Given the description of an element on the screen output the (x, y) to click on. 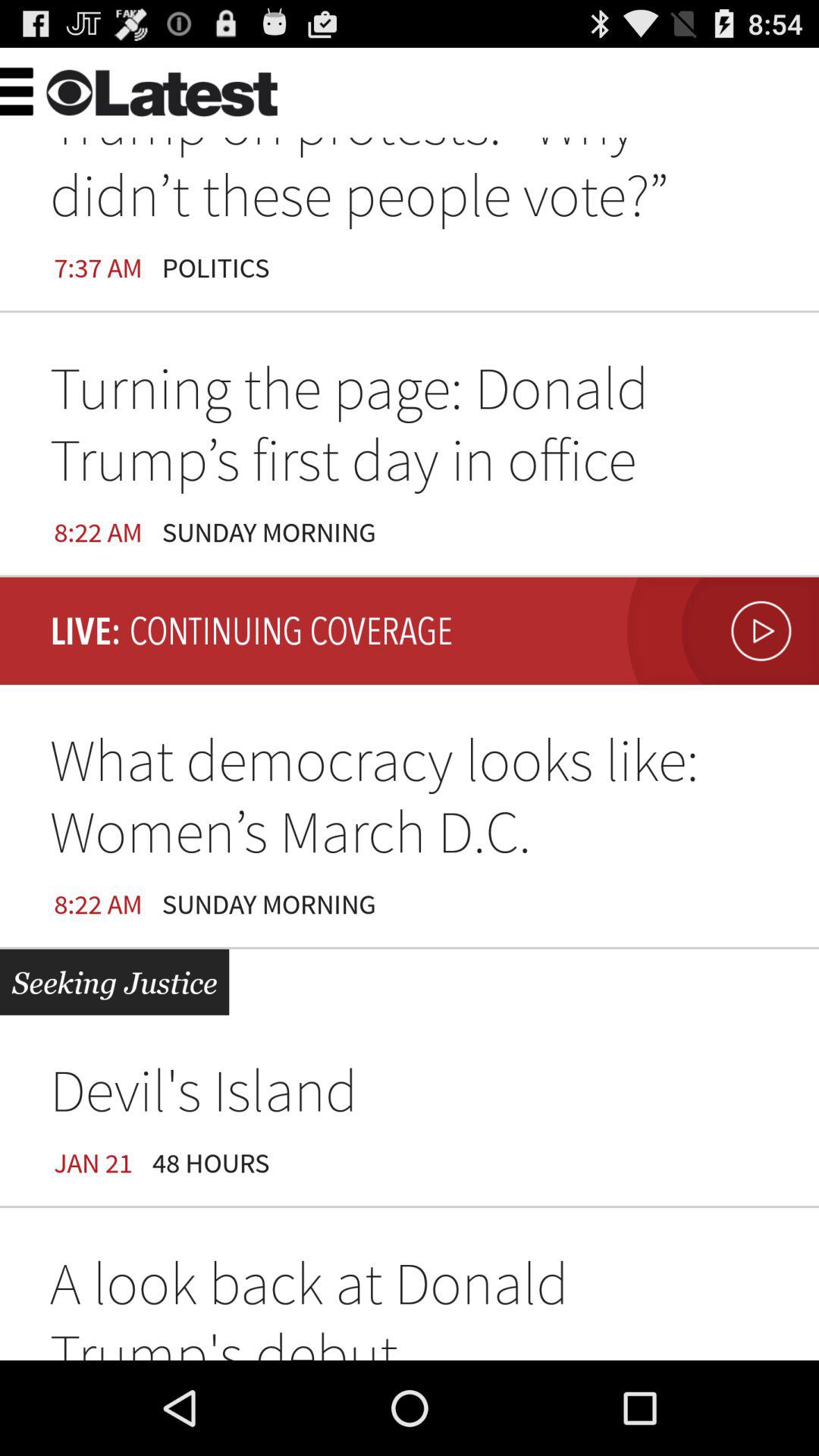
flip until what democracy looks app (409, 801)
